Given the description of an element on the screen output the (x, y) to click on. 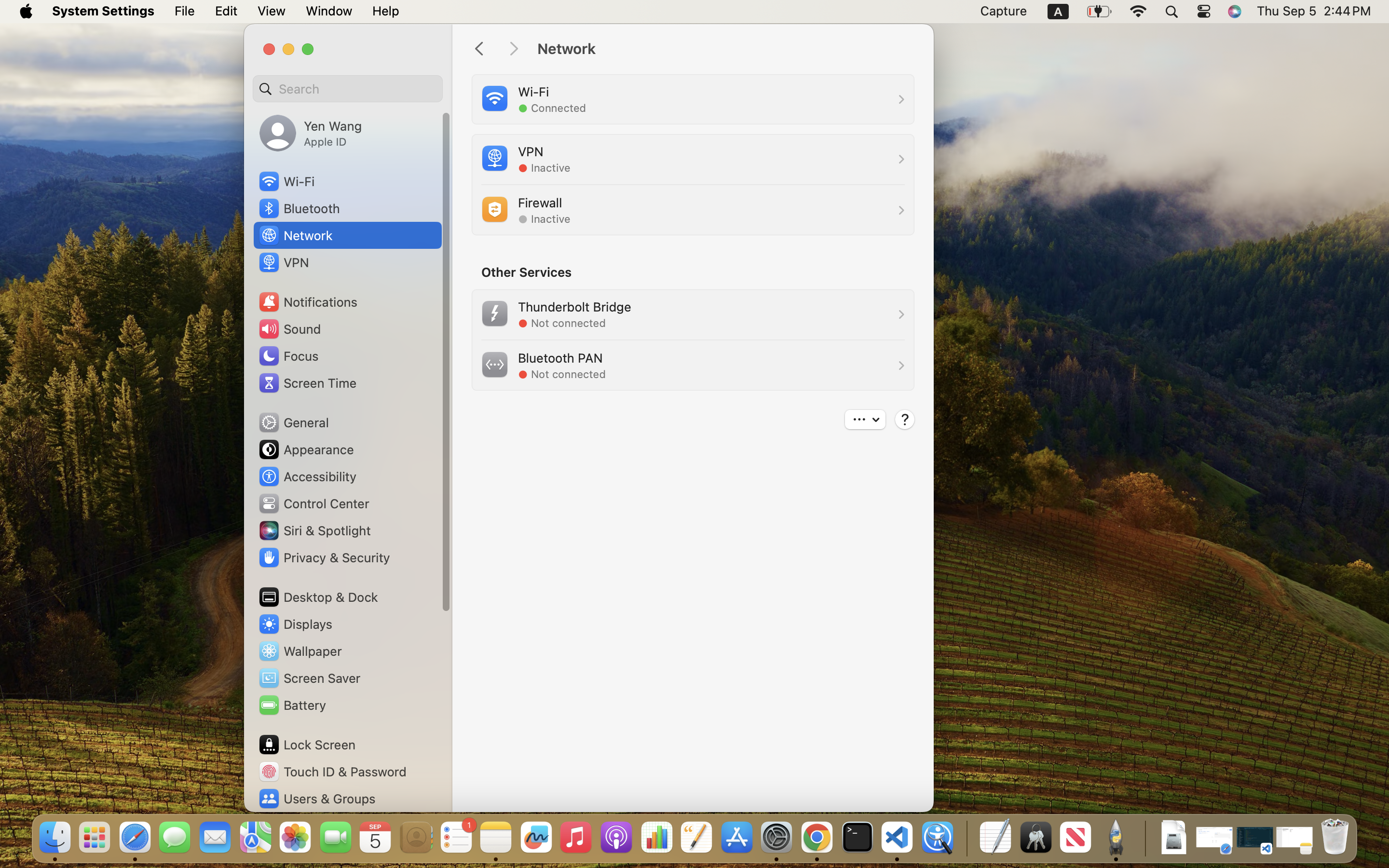
Wallpaper Element type: AXStaticText (299, 650)
Displays Element type: AXStaticText (294, 623)
Screen Time Element type: AXStaticText (306, 382)
Bluetooth Element type: AXStaticText (298, 207)
Battery Element type: AXStaticText (291, 704)
